Given the description of an element on the screen output the (x, y) to click on. 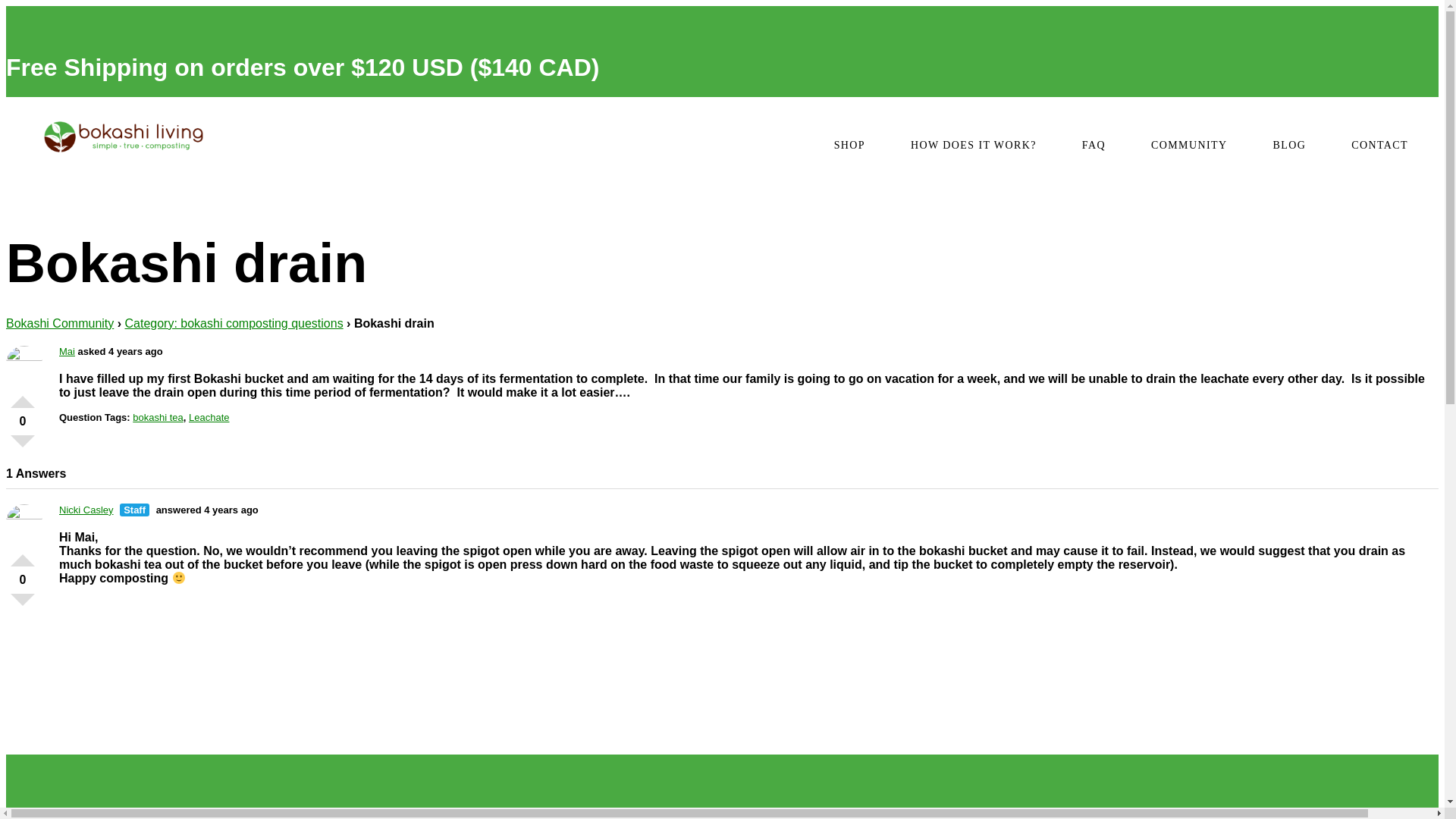
Category: bokashi composting questions (232, 323)
HOW DOES IT WORK? (973, 144)
CONTACT (1379, 144)
bokashi tea (157, 417)
Vote Down (22, 605)
BLOG (1289, 144)
Leachate (209, 417)
FAQ (1093, 144)
SHOP (849, 144)
Nicki Casley (86, 509)
Bokashi Community (59, 323)
COMMUNITY (1189, 144)
Bokashi Logo (123, 138)
Vote Up (22, 395)
Vote Down (22, 446)
